Given the description of an element on the screen output the (x, y) to click on. 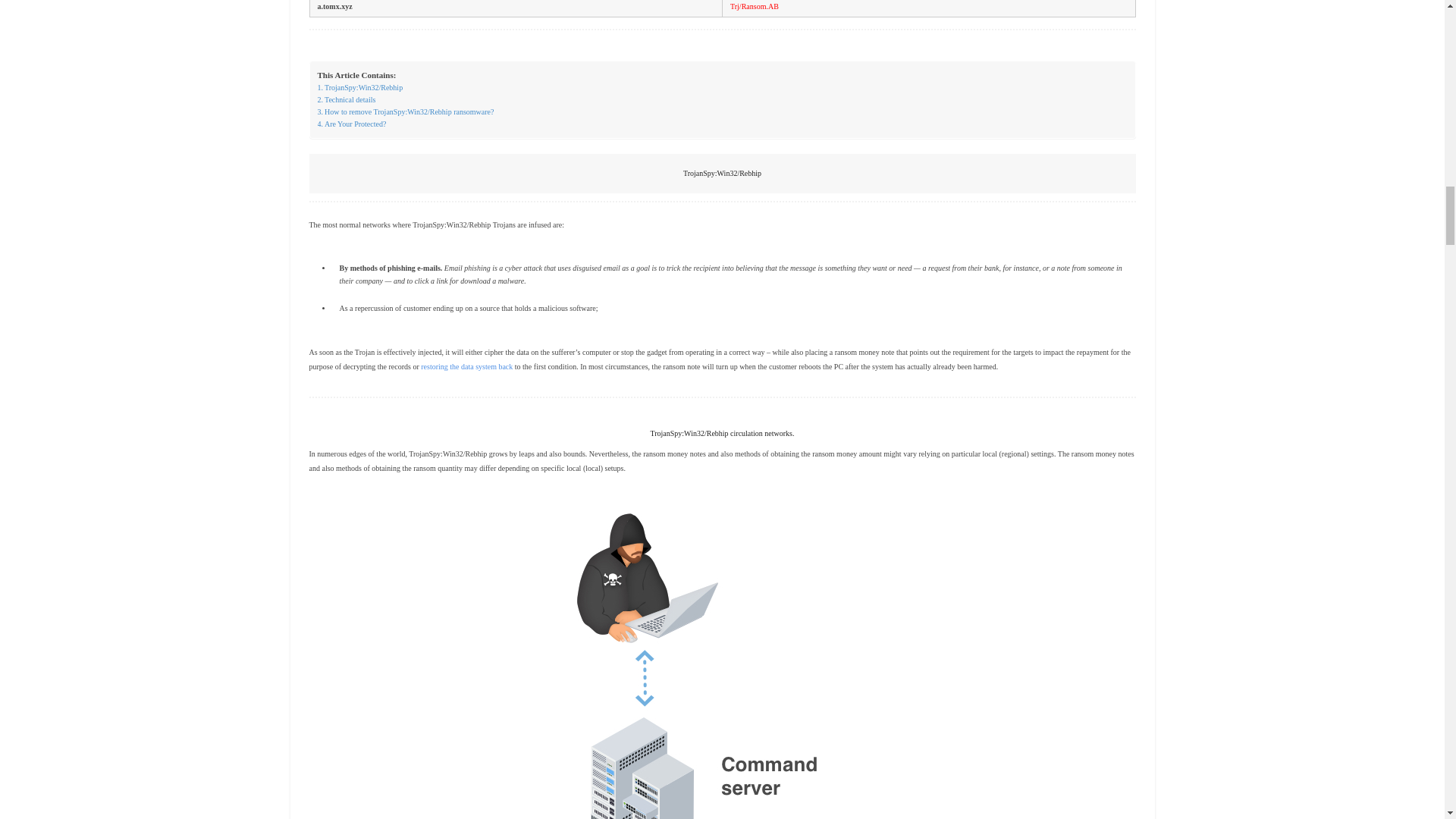
Technical details (346, 100)
Technical details (346, 100)
Are Your Protected? (351, 123)
restoring the data system back (466, 366)
Are Your Protected? (351, 123)
